Given the description of an element on the screen output the (x, y) to click on. 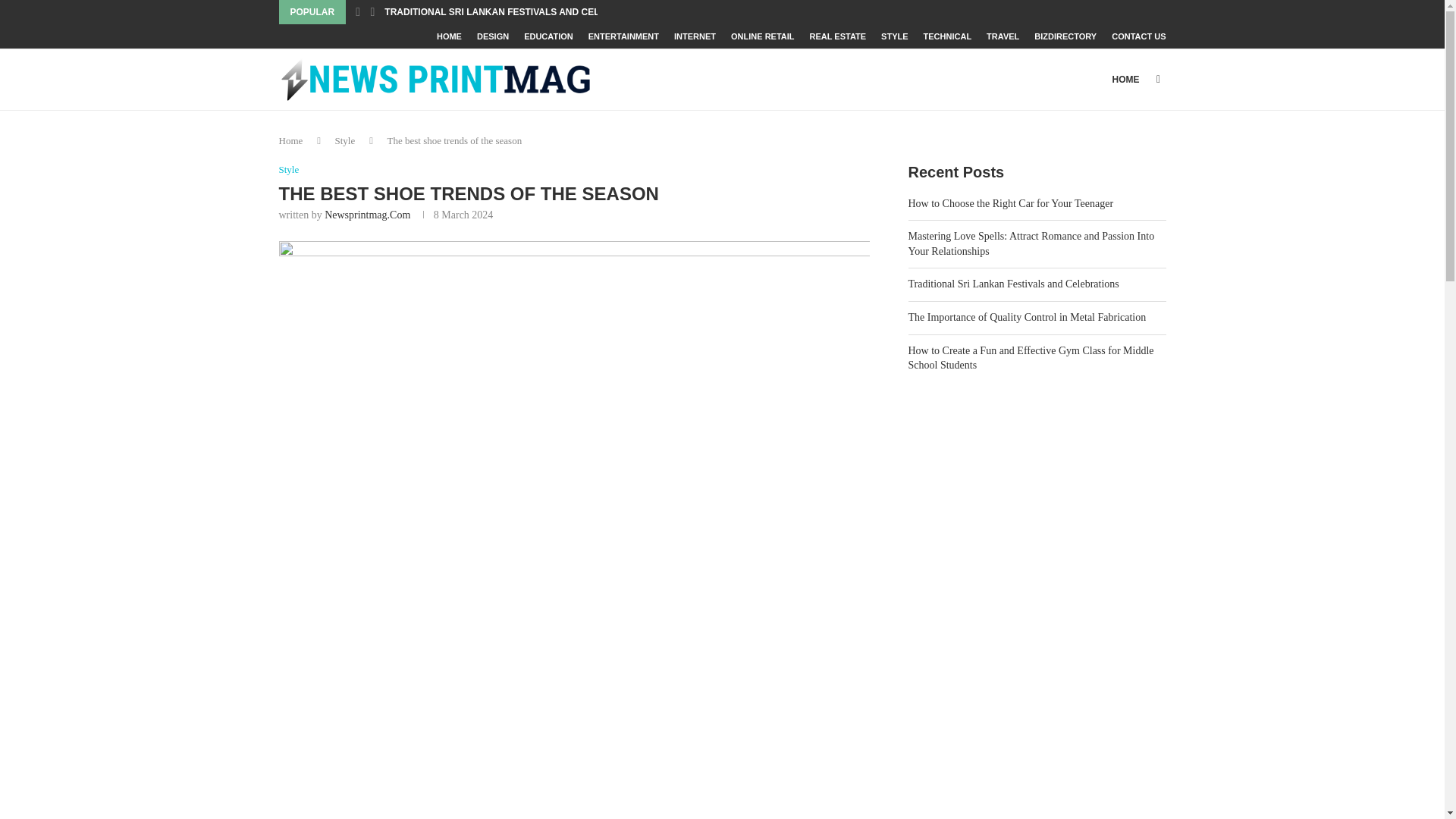
REAL ESTATE (837, 36)
TRAVEL (1003, 36)
INTERNET (695, 36)
TRADITIONAL SRI LANKAN FESTIVALS AND CELEBRATIONS (518, 12)
Home (290, 140)
CONTACT US (1139, 36)
HOME (448, 36)
ENTERTAINMENT (623, 36)
DESIGN (492, 36)
EDUCATION (548, 36)
BIZDIRECTORY (1064, 36)
ONLINE RETAIL (762, 36)
TECHNICAL (947, 36)
STYLE (893, 36)
